Given the description of an element on the screen output the (x, y) to click on. 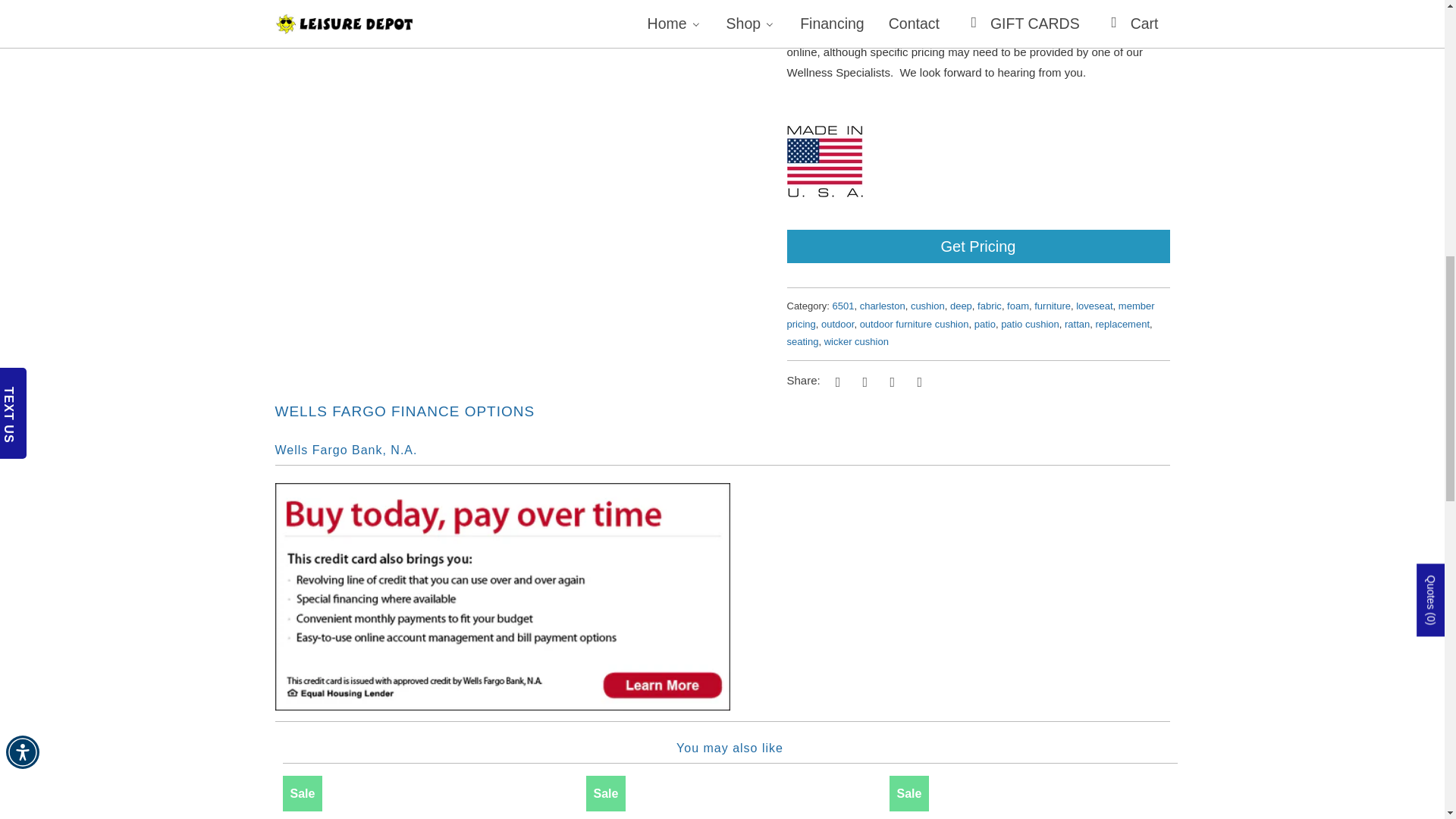
Products tagged 6501 (843, 306)
